Given the description of an element on the screen output the (x, y) to click on. 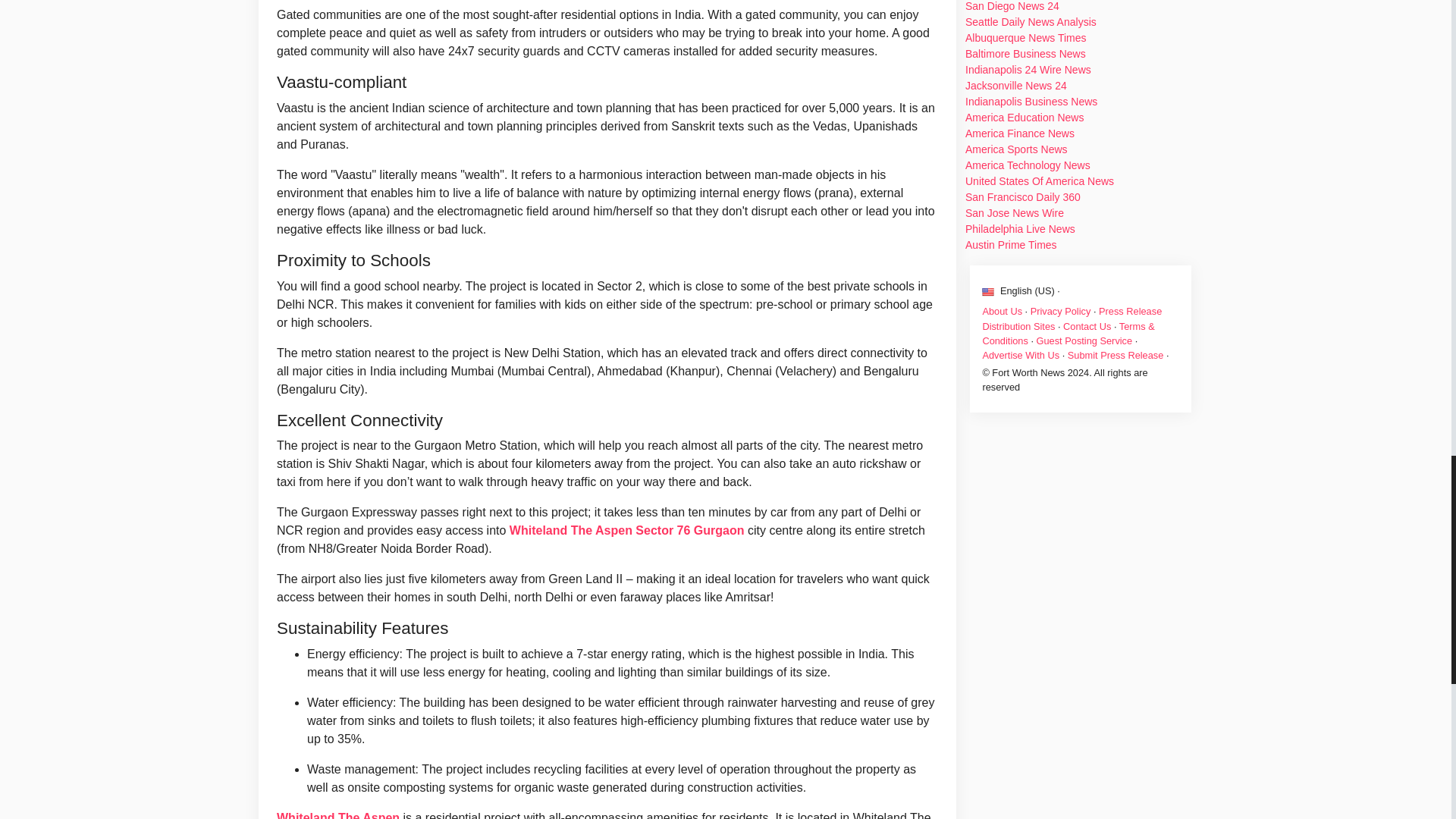
Whiteland The Aspen Sector 76 Gurgaon (626, 530)
Whiteland The Aspen (337, 815)
